Given the description of an element on the screen output the (x, y) to click on. 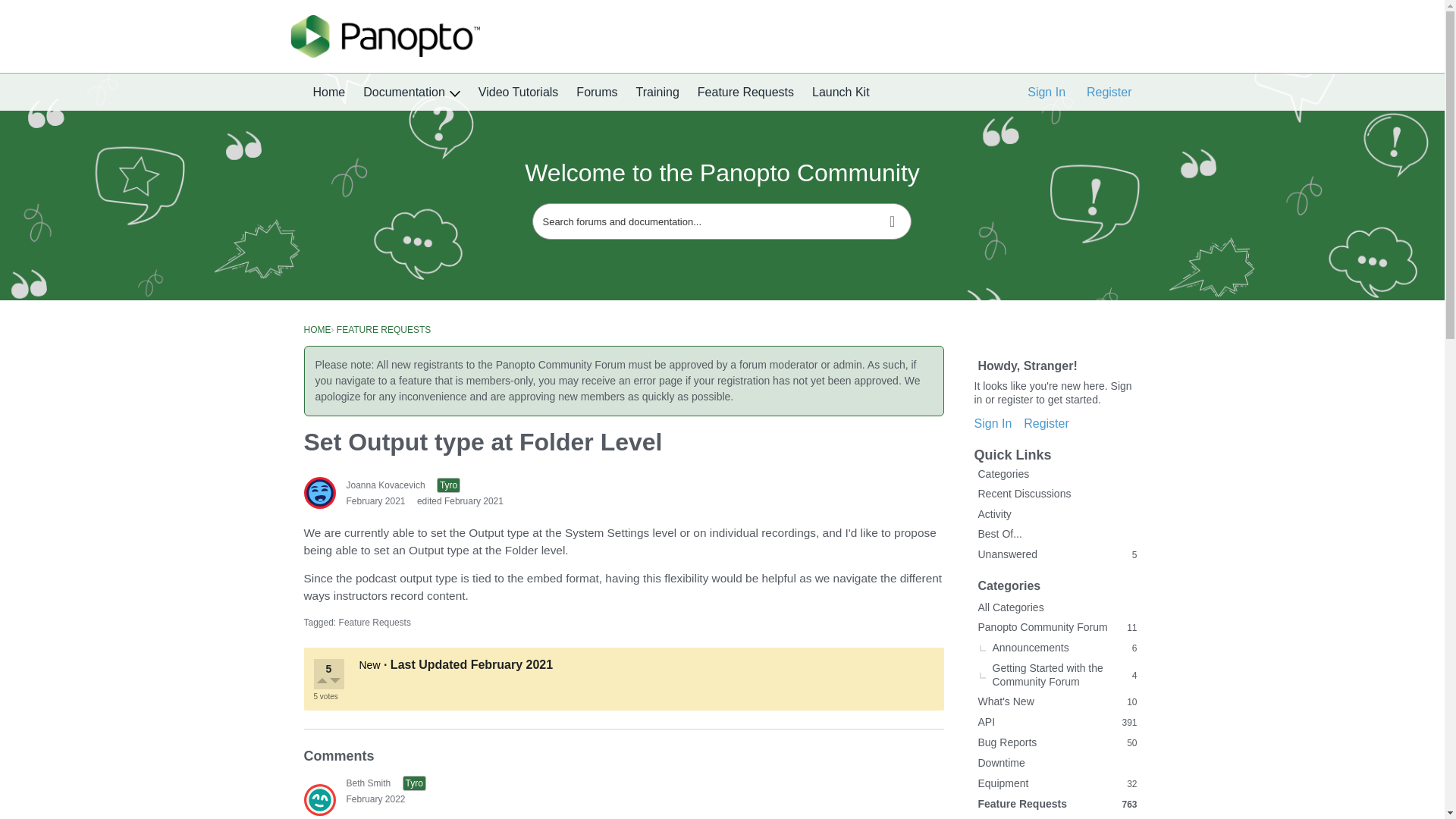
February 9, 2021 5:39PM (375, 501)
February 22, 2022 11:40PM (375, 798)
763 discussions (1129, 804)
Edited February 9, 2021 5:55PM by Joanna Kovacevich. (459, 501)
Level 1 (414, 783)
Home (327, 92)
Sign In (1045, 92)
Joanna Kovacevich (318, 492)
Launch Kit (841, 92)
Level 1 (448, 485)
